Given the description of an element on the screen output the (x, y) to click on. 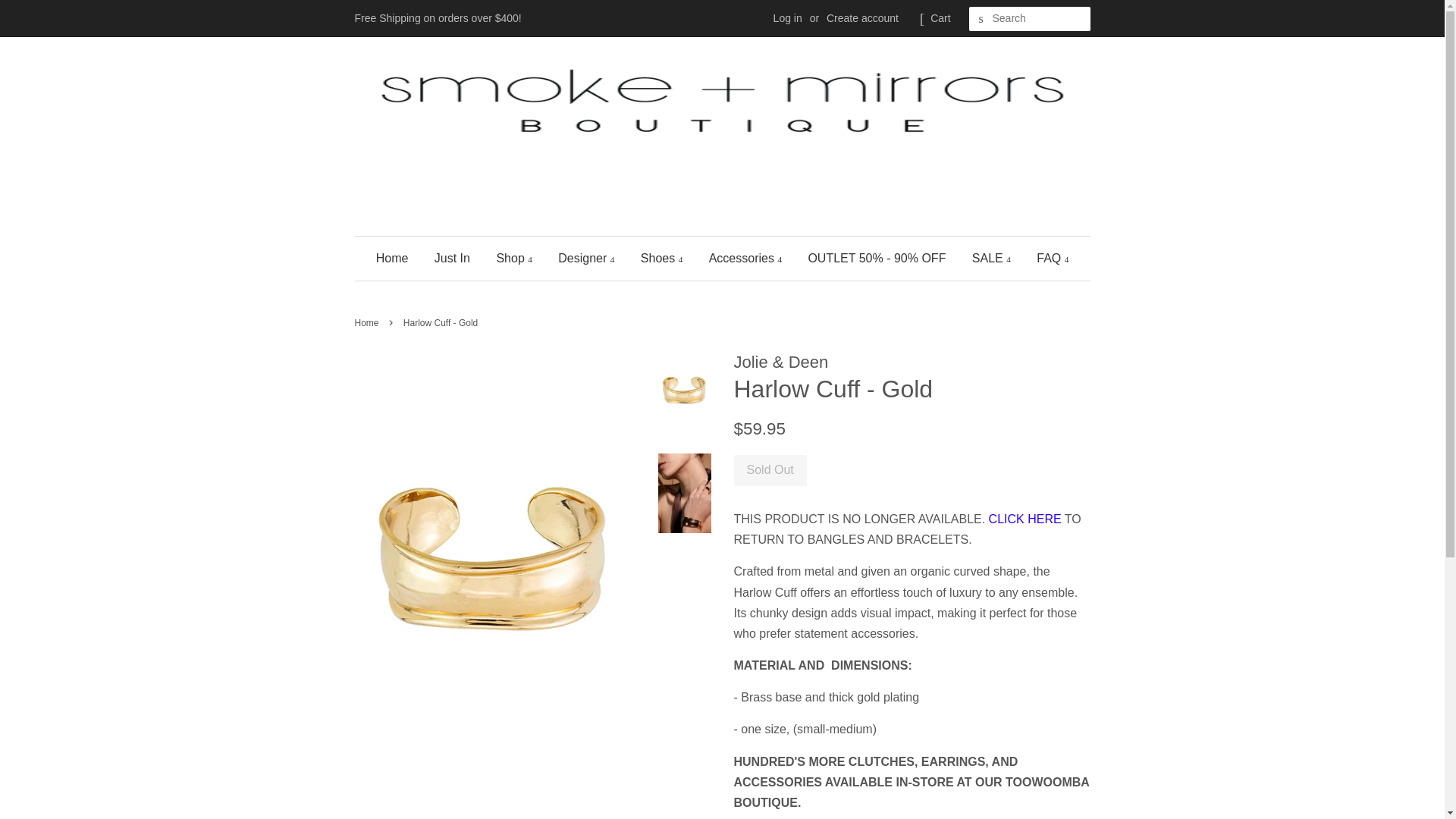
Search (980, 18)
Create account (862, 18)
Log in (787, 18)
Cart (940, 18)
Back to the frontpage (368, 322)
